Given the description of an element on the screen output the (x, y) to click on. 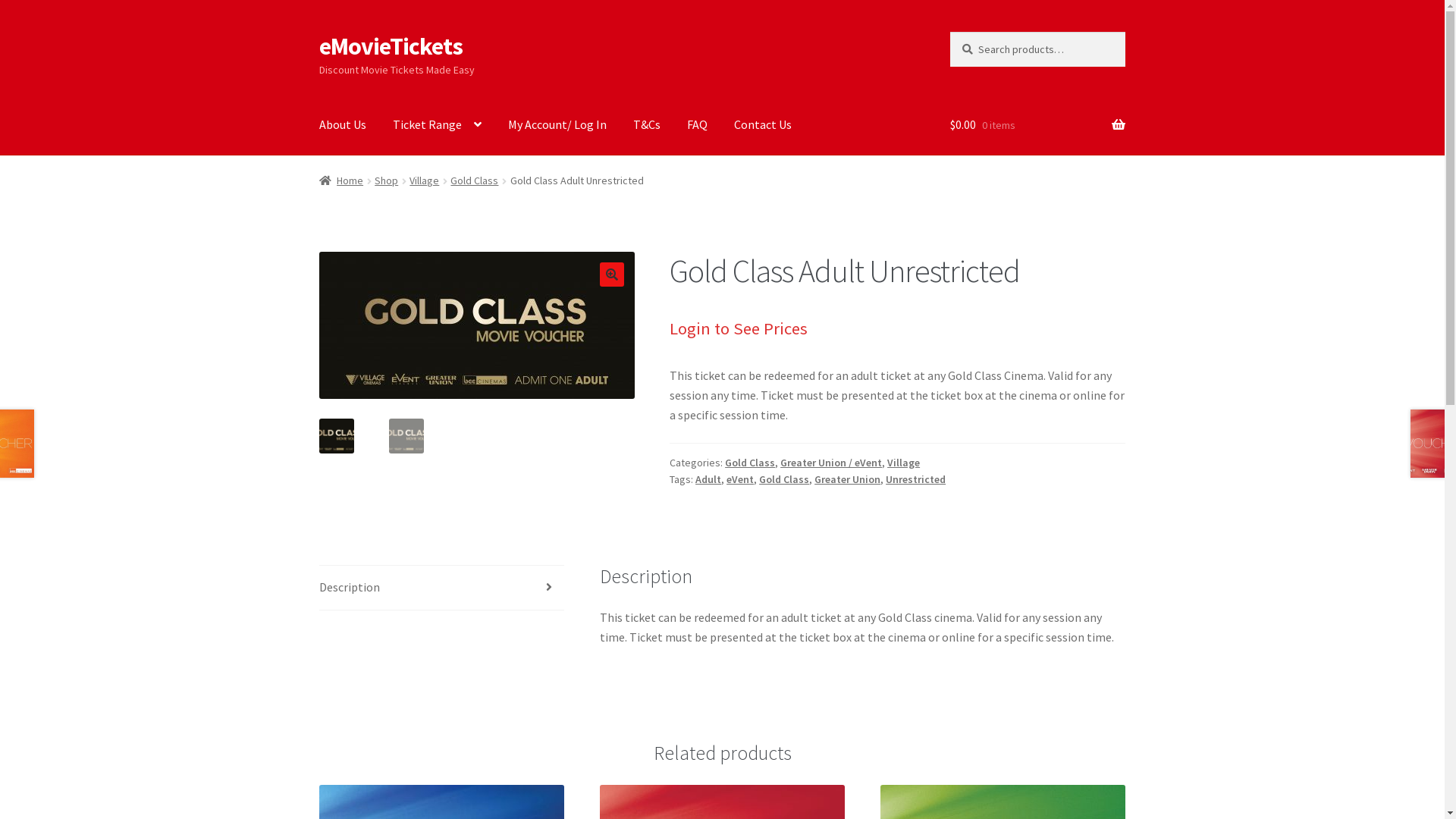
Home Element type: text (341, 180)
Gold Class Element type: text (784, 479)
Village Element type: text (903, 462)
Gold Class Element type: text (749, 462)
Description Element type: text (441, 587)
Login to See Prices Element type: text (738, 327)
eMovieTickets Element type: text (390, 46)
My Account/ Log In Element type: text (556, 124)
Skip to navigation Element type: text (318, 31)
$0.00 0 items Element type: text (1037, 124)
About Us Element type: text (342, 124)
Village Element type: text (424, 180)
Greater Union Element type: text (847, 479)
Greater Union / eVent Element type: text (830, 462)
Contact Us Element type: text (762, 124)
FAQ Element type: text (696, 124)
v150839414248_goldclass_1880px Element type: hover (476, 324)
Adult Element type: text (708, 479)
Shop Element type: text (386, 180)
eVent Element type: text (739, 479)
T&Cs Element type: text (646, 124)
v150839414248_goldclass_1880px Element type: hover (792, 324)
Ticket Range Element type: text (436, 124)
Search Element type: text (949, 31)
Gold Class Element type: text (474, 180)
Unrestricted Element type: text (915, 479)
